Given the description of an element on the screen output the (x, y) to click on. 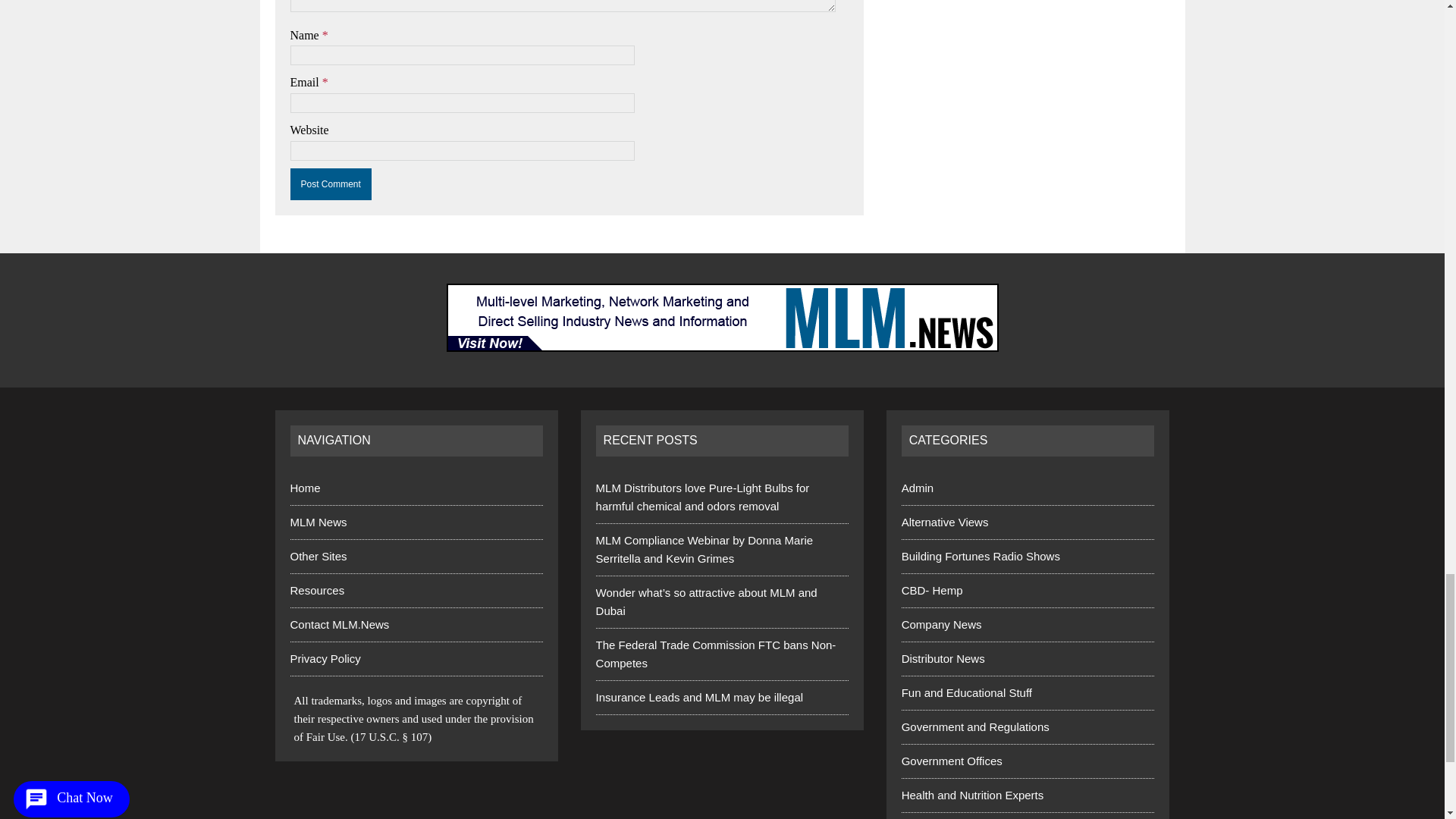
Post Comment (330, 183)
